Given the description of an element on the screen output the (x, y) to click on. 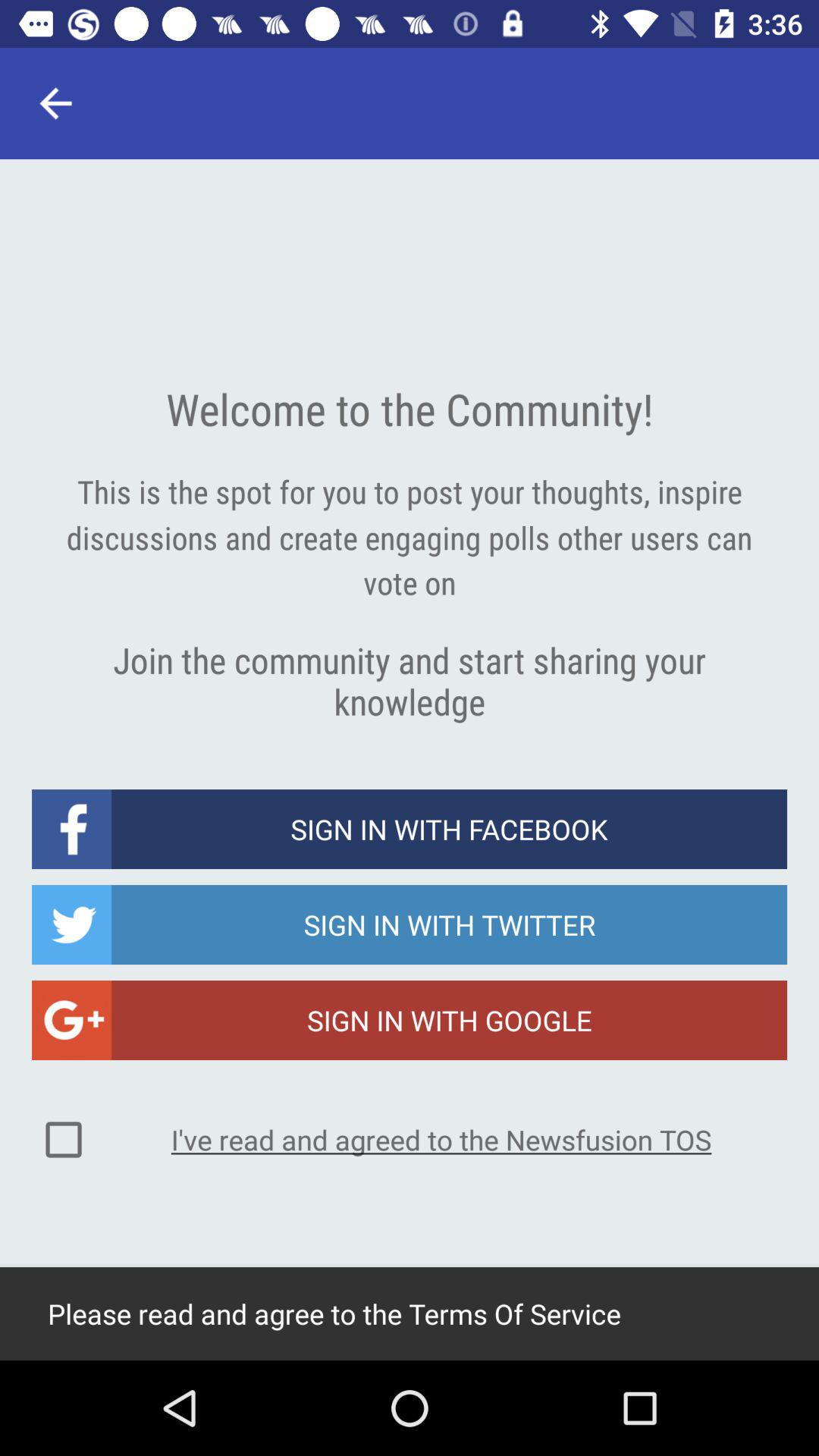
select item next to i ve read (63, 1139)
